Given the description of an element on the screen output the (x, y) to click on. 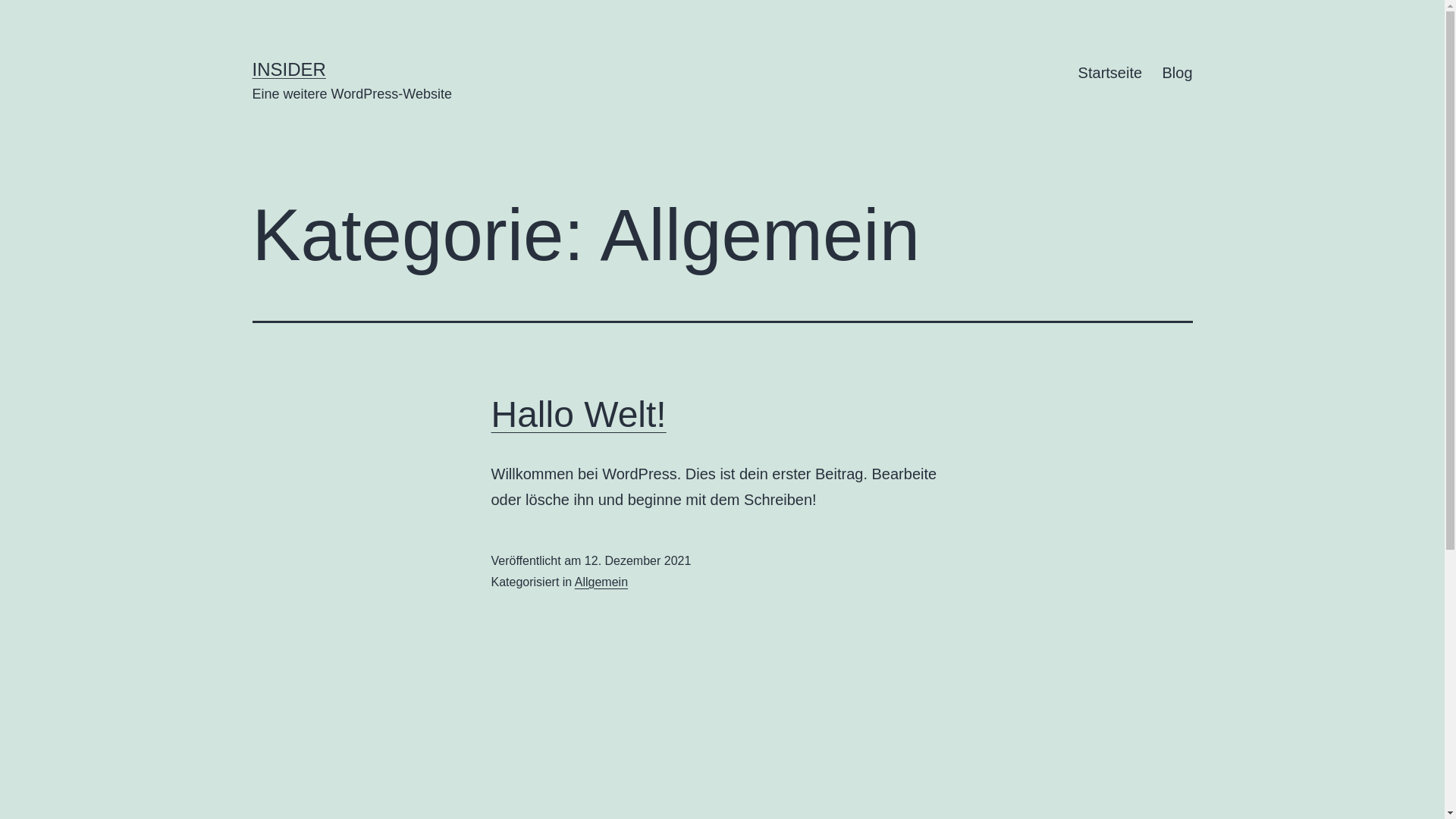
Startseite Element type: text (1109, 72)
Blog Element type: text (1176, 72)
Allgemein Element type: text (600, 581)
Hallo Welt! Element type: text (578, 414)
INSIDER Element type: text (288, 69)
